Given the description of an element on the screen output the (x, y) to click on. 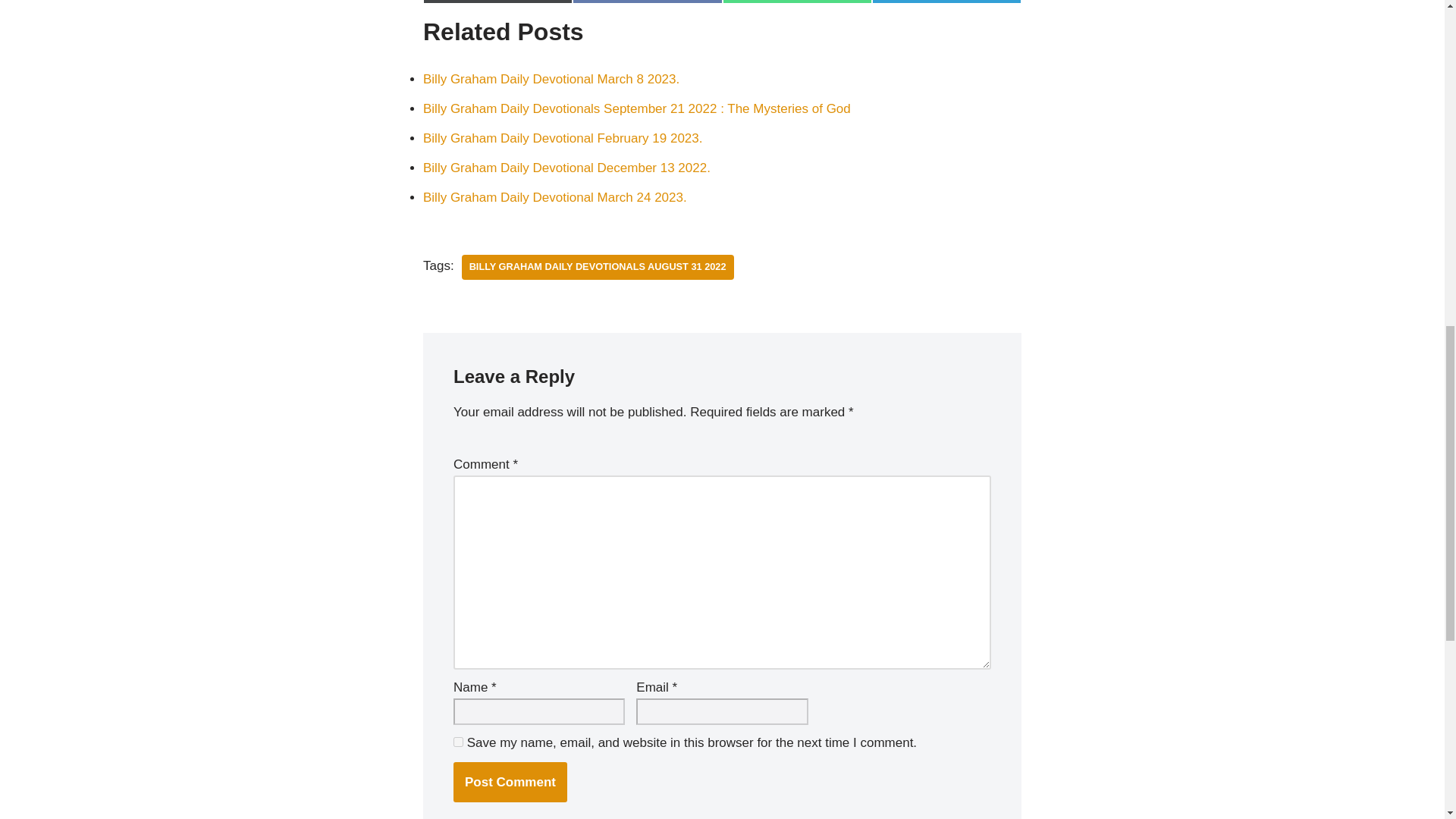
Post Comment (509, 782)
BILLY GRAHAM DAILY DEVOTIONALS AUGUST 31 2022 (597, 267)
WhatsApp (796, 2)
yes (457, 741)
Facebook (647, 2)
Telegram (947, 2)
Billy Graham Daily Devotional March 8 2023. (551, 79)
Billy Graham Daily Devotional December 13 2022. (566, 167)
Post Comment (509, 782)
Billy Graham Daily Devotional March 24 2023. (555, 197)
Billy Graham Daily Devotionals August 31 2022 (597, 267)
Billy Graham Daily Devotional February 19 2023. (563, 138)
